Given the description of an element on the screen output the (x, y) to click on. 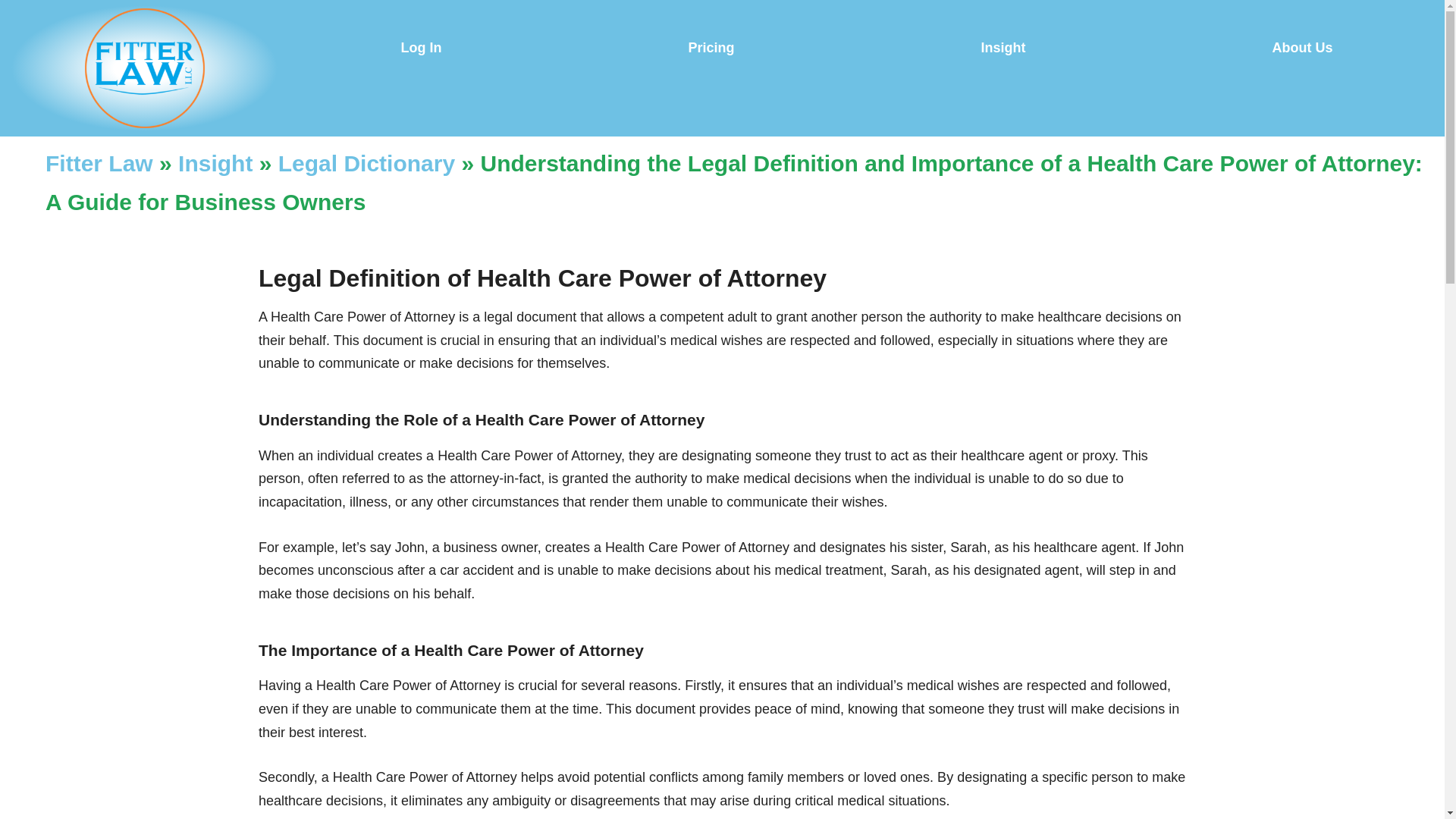
Legal Dictionary (366, 163)
About Us (1302, 47)
Fitter Law (98, 163)
Pricing (710, 47)
Insight (214, 163)
Insight (1002, 47)
Log In (421, 47)
